Given the description of an element on the screen output the (x, y) to click on. 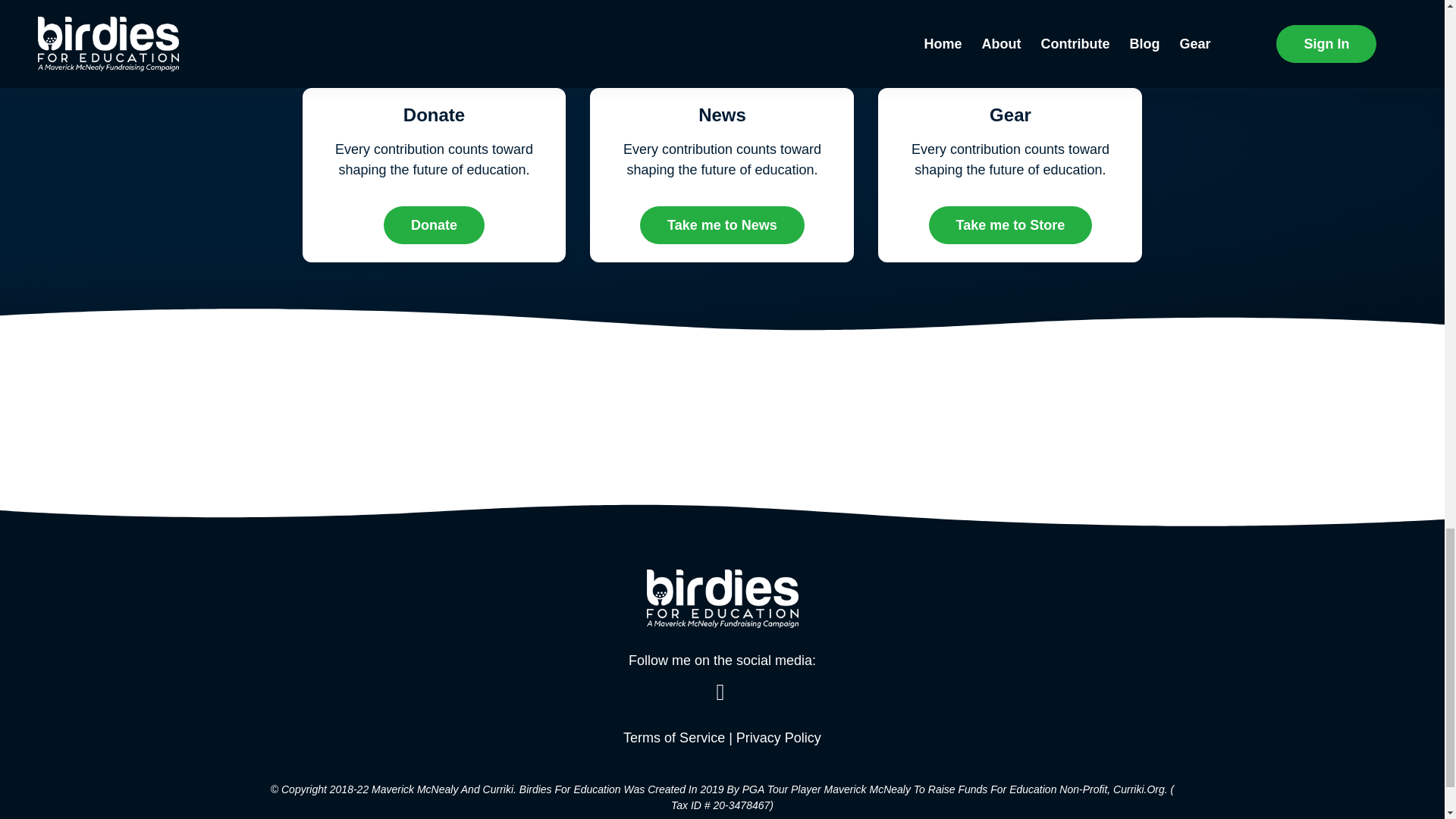
Terms of Service (674, 737)
Take me to News (722, 225)
Donate (434, 225)
Take me to Store (1010, 225)
Privacy Policy (778, 737)
